Given the description of an element on the screen output the (x, y) to click on. 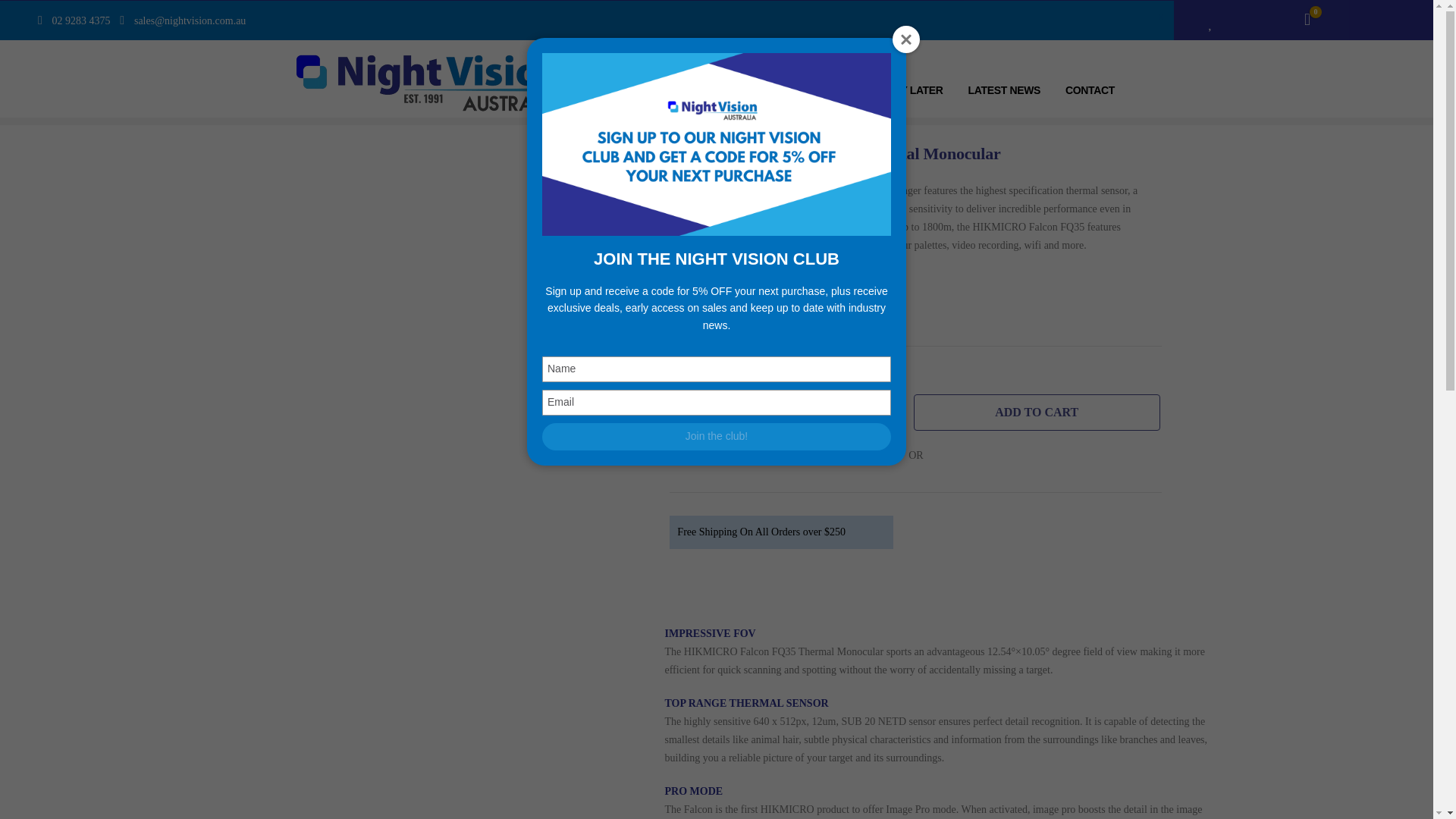
FEATURED (783, 90)
HOME (653, 90)
SHOP (712, 90)
CONTACT (1089, 90)
1 (682, 373)
02 9283 4375 (81, 23)
YouTube video player (450, 731)
SALE (849, 90)
LATEST NEWS (1004, 90)
PAY LATER (915, 90)
